Given the description of an element on the screen output the (x, y) to click on. 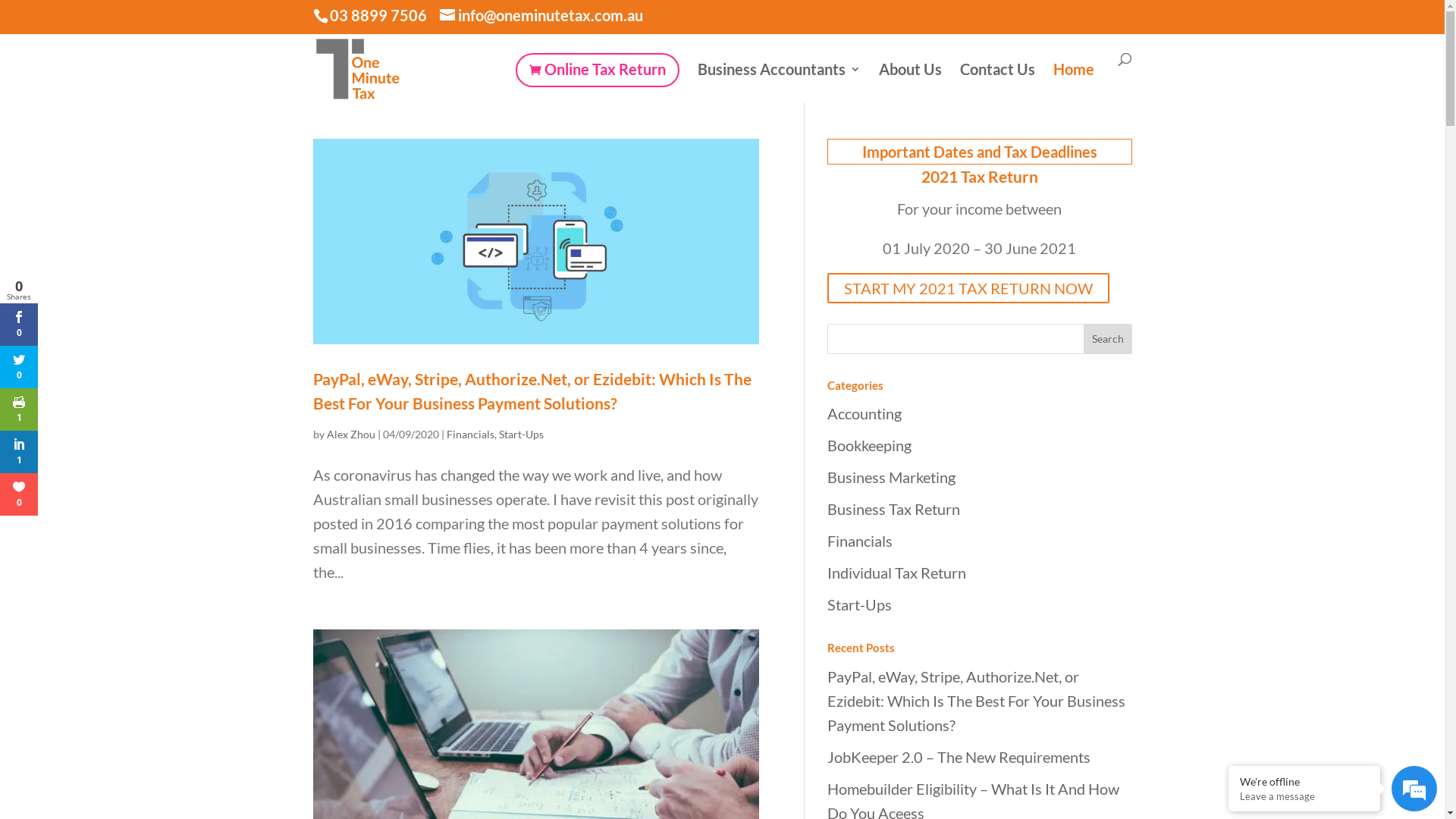
Search Element type: text (1107, 338)
0 Element type: text (18, 366)
Accounting Element type: text (863, 413)
Contact Us Element type: text (997, 81)
0 Element type: text (18, 494)
Financials Element type: text (858, 540)
03 8899 7506 Element type: text (377, 15)
Start-Ups Element type: text (858, 604)
About Us Element type: text (909, 81)
Bookkeeping Element type: text (868, 445)
Start-Ups Element type: text (520, 433)
info@oneminutetax.com.au Element type: text (541, 15)
0 Element type: text (18, 324)
Individual Tax Return Element type: text (895, 572)
Online Tax Return Element type: text (597, 70)
1 Element type: text (18, 451)
1 Element type: text (18, 409)
Business Marketing Element type: text (890, 476)
Business Accountants Element type: text (778, 81)
Home Element type: text (1072, 81)
Financials Element type: text (469, 433)
Business Tax Return Element type: text (892, 508)
Alex Zhou Element type: text (350, 433)
START MY 2021 TAX RETURN NOW Element type: text (967, 288)
